Given the description of an element on the screen output the (x, y) to click on. 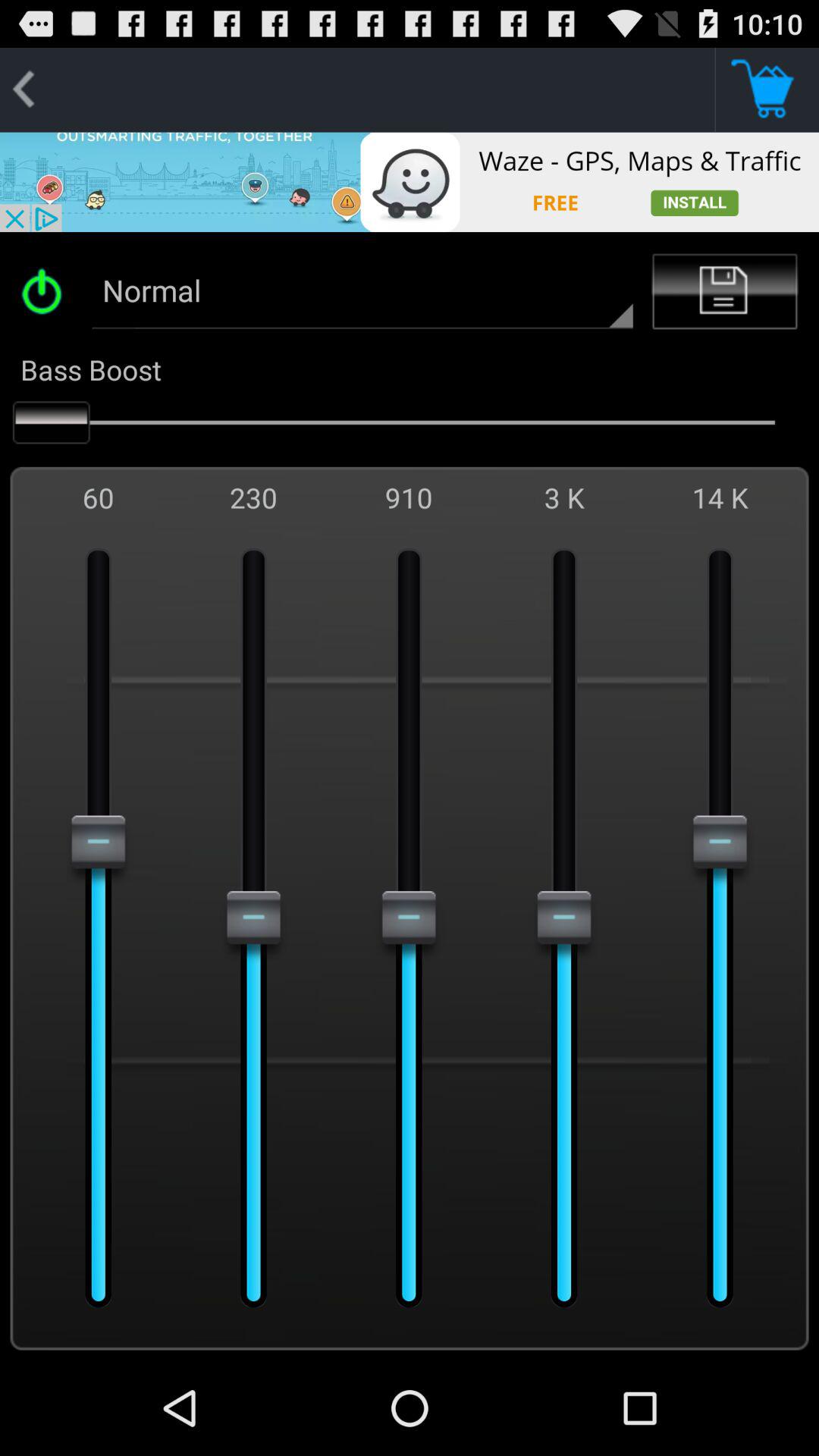
toggle sound effect (47, 291)
